Given the description of an element on the screen output the (x, y) to click on. 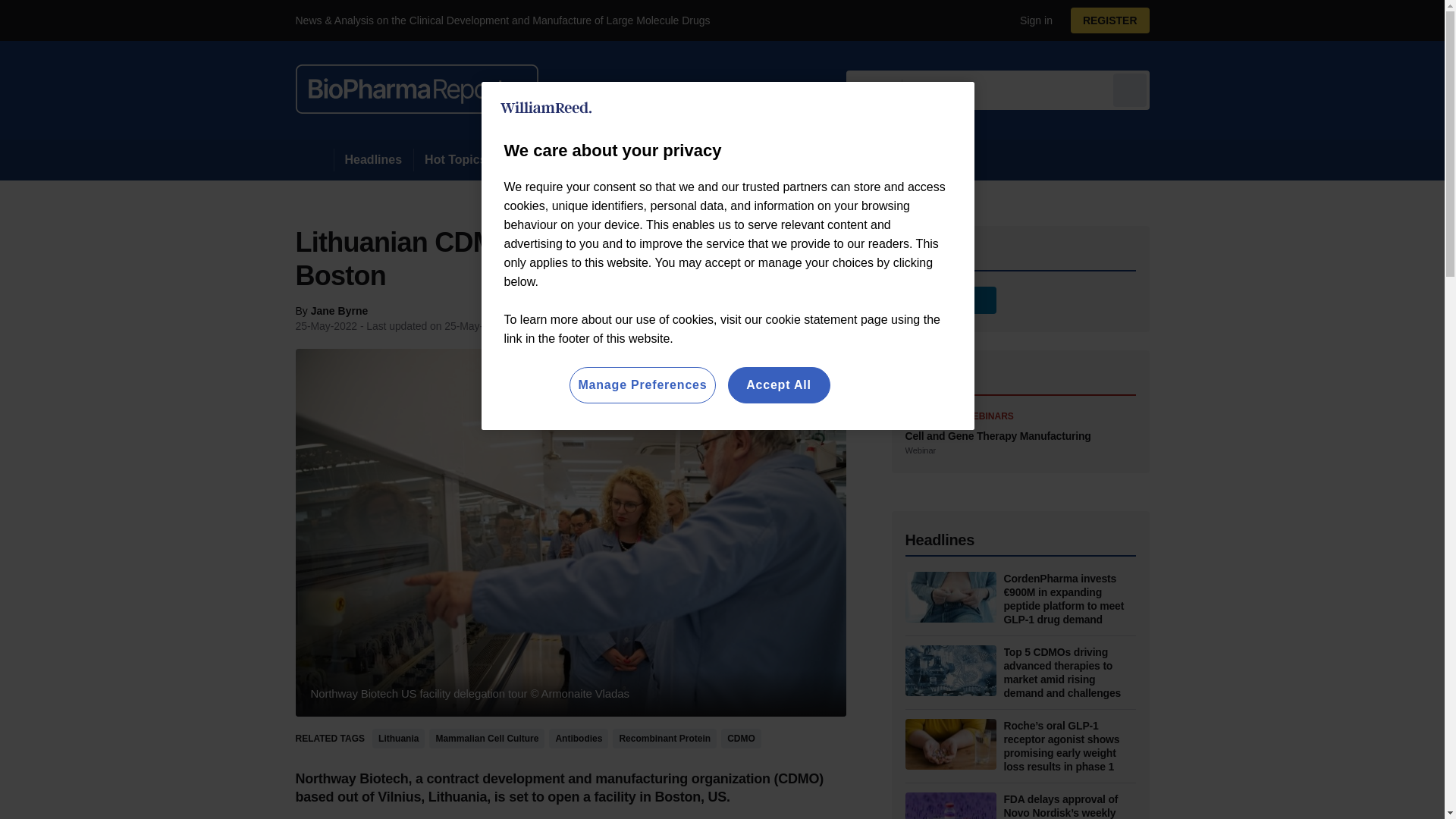
Send (1129, 89)
Home (314, 159)
BioPharmaReporter (416, 89)
Home (313, 159)
Hot Topics (455, 159)
Sign out (1032, 20)
William Reed (545, 107)
My account (1114, 20)
REGISTER (1110, 20)
Resources (540, 159)
Sign in (1029, 20)
Send (1129, 90)
Headlines (373, 159)
